Given the description of an element on the screen output the (x, y) to click on. 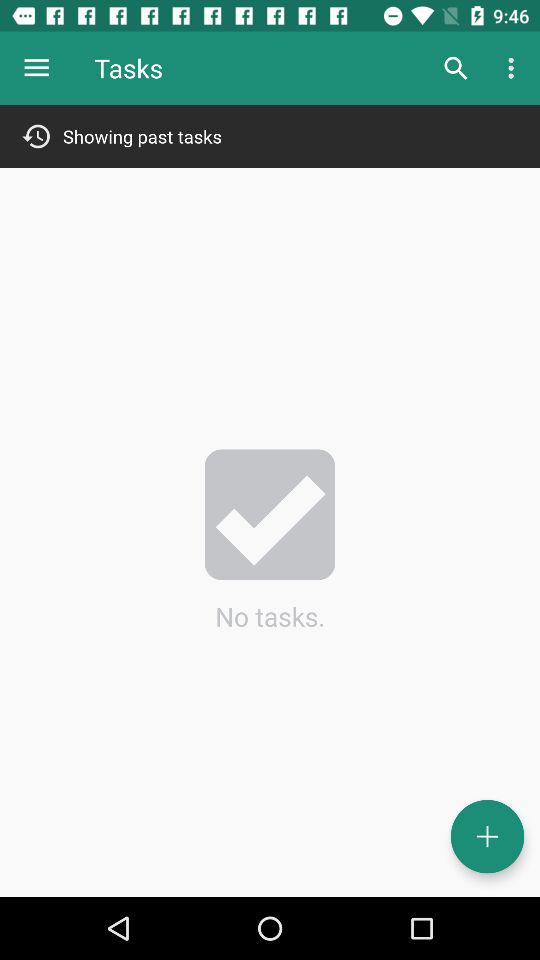
choose item to the right of tasks item (455, 67)
